Given the description of an element on the screen output the (x, y) to click on. 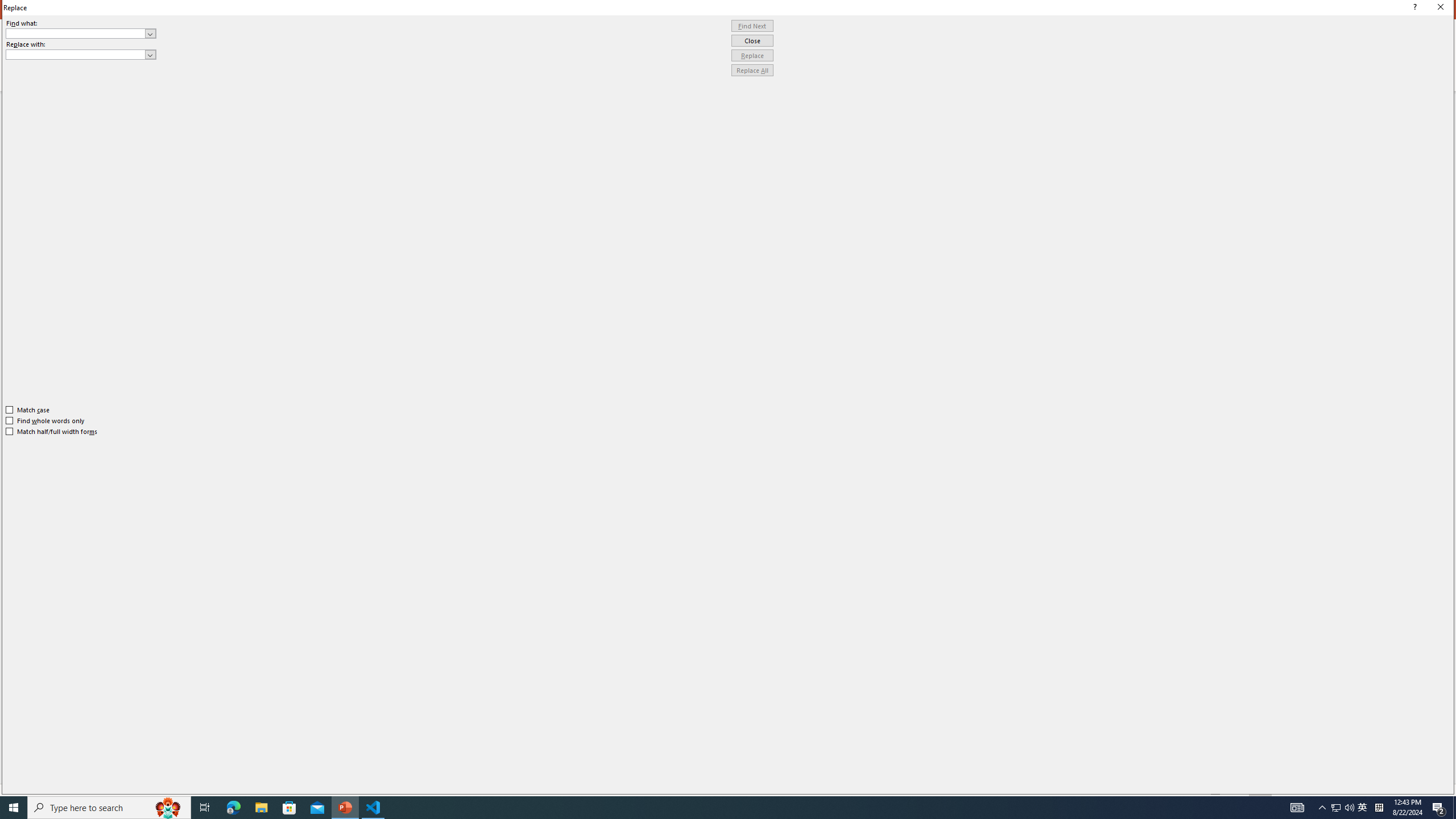
Match half/full width forms (52, 431)
Match case (27, 409)
Replace with (75, 53)
Replace (752, 55)
Find what (75, 33)
Find Next (752, 25)
Context help (1413, 8)
Find whole words only (45, 420)
Replace with (80, 54)
Find what (80, 33)
Replace All (752, 69)
